Given the description of an element on the screen output the (x, y) to click on. 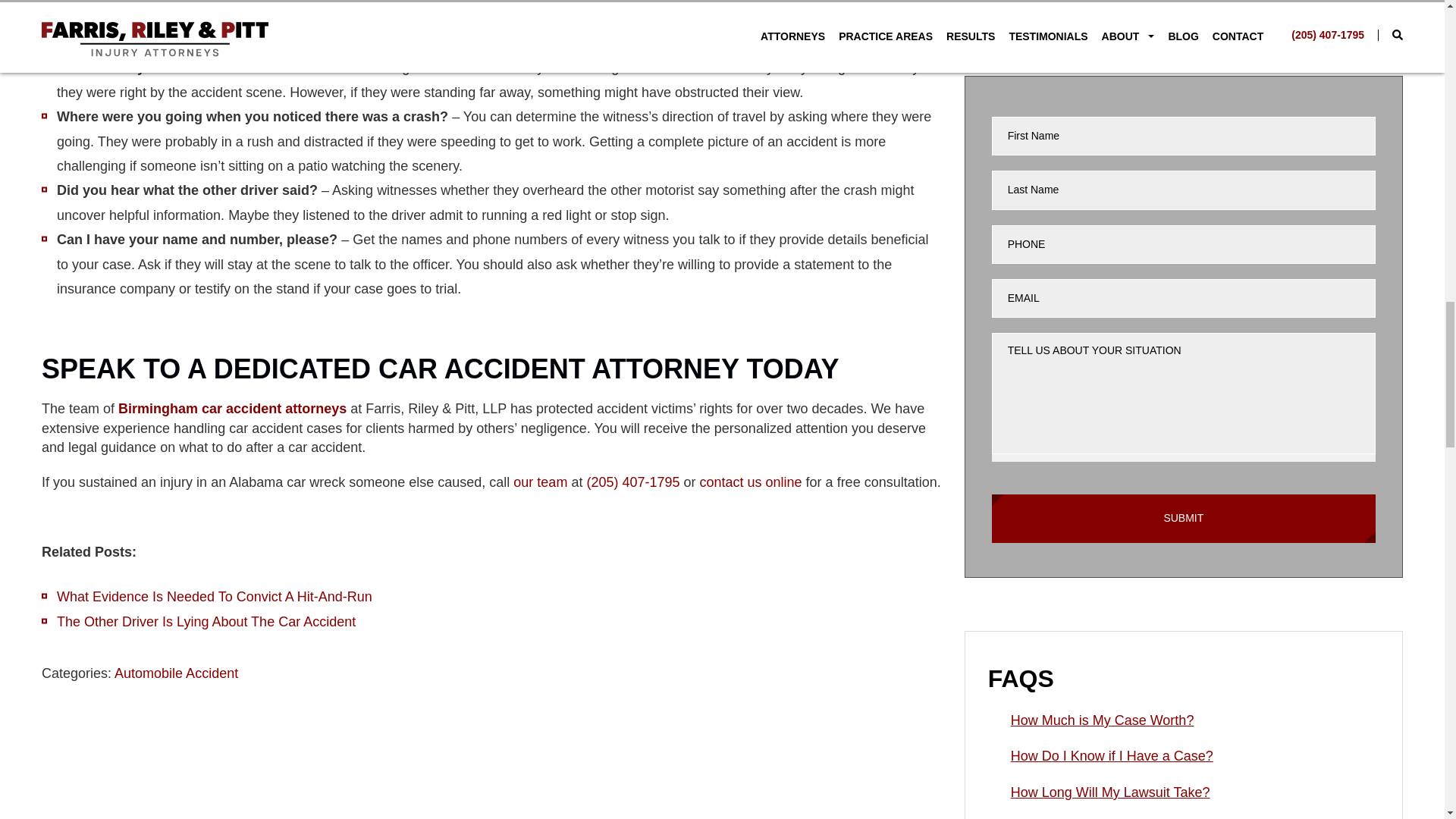
contact us online (751, 482)
What Evidence Is Needed To Convict A Hit-And-Run (214, 596)
our team (540, 482)
Automobile Accident (176, 672)
The Other Driver Is Lying About The Car Accident (205, 621)
Submit (1183, 518)
Birmingham car accident attorneys (231, 408)
